Given the description of an element on the screen output the (x, y) to click on. 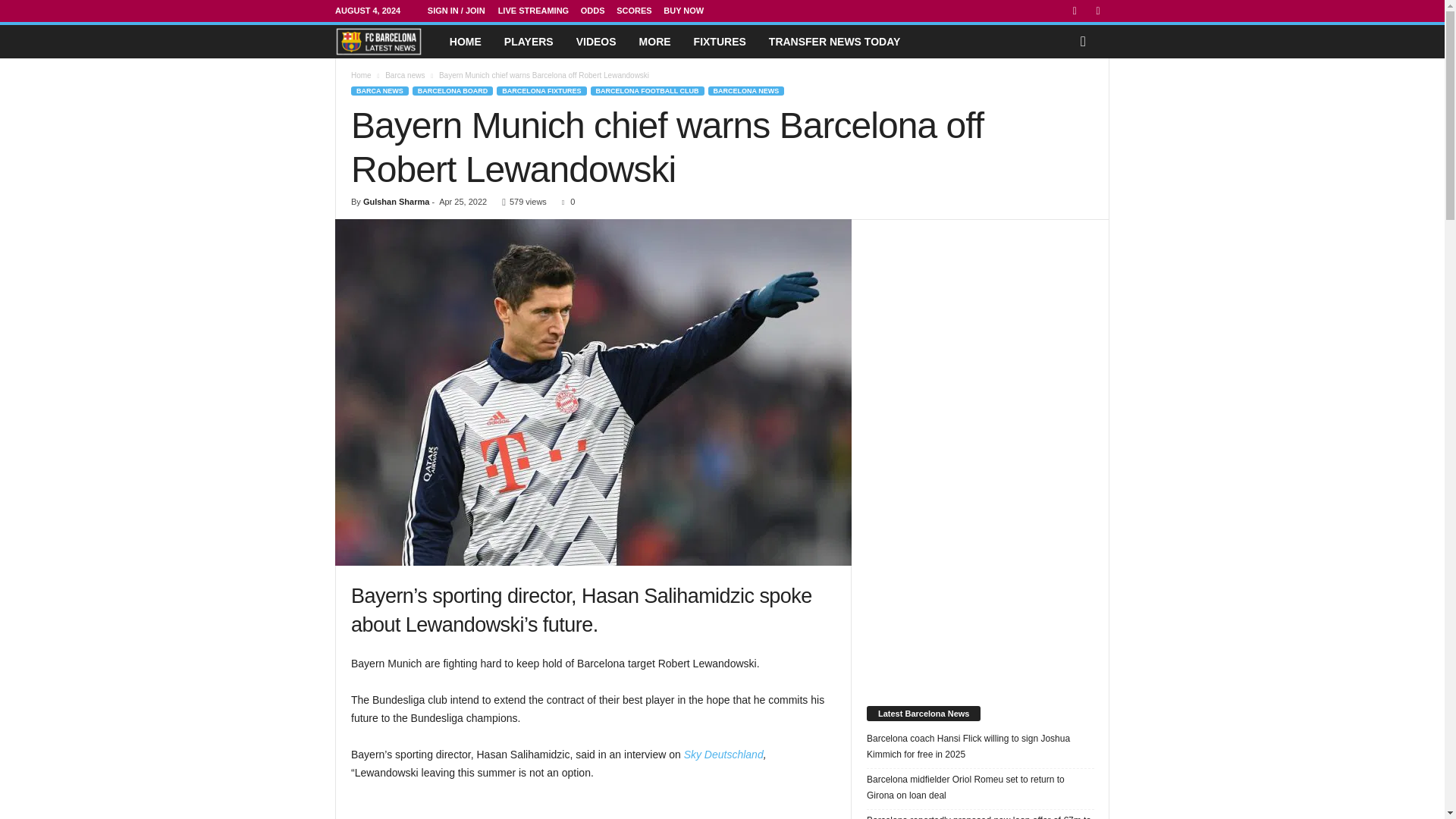
View all posts in Barca news (405, 75)
FC Barcelona Latest News Now Today Morning (378, 41)
ODDS (592, 10)
SCORES (632, 10)
BUY NOW (683, 10)
LIVE STREAMING (533, 10)
